Given the description of an element on the screen output the (x, y) to click on. 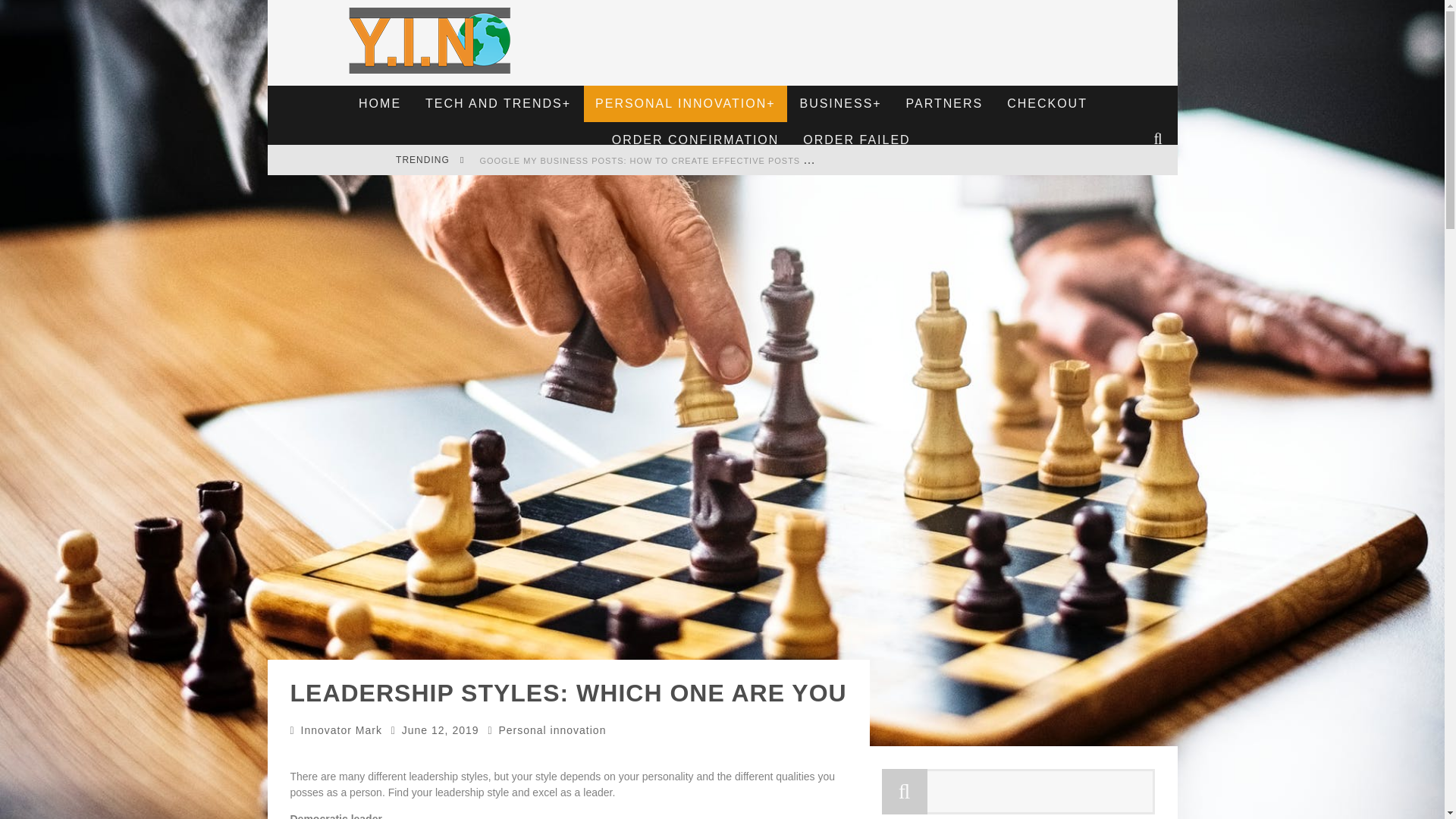
View all posts in Personal innovation (551, 729)
HOME (379, 103)
